Given the description of an element on the screen output the (x, y) to click on. 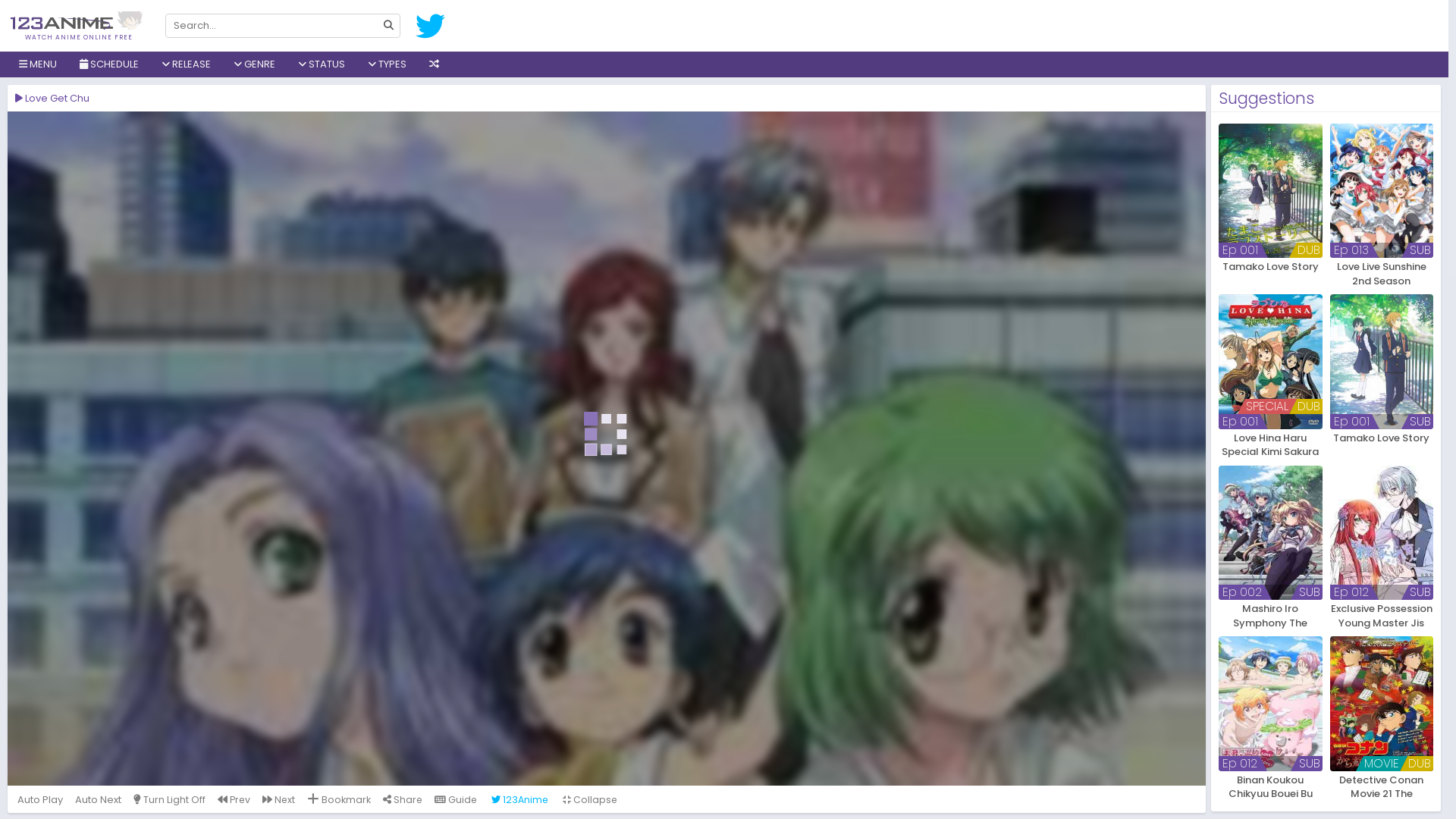
Tamako Love Story Element type: text (1270, 273)
SUB
Ep 001 Element type: text (1382, 361)
STATUS Element type: text (321, 64)
RELEASE Element type: text (186, 64)
DUB
SPECIAL
Ep 001 Element type: text (1270, 361)
Detective Conan Movie 21 The Crimson Love Letter Element type: text (1382, 786)
SUB
Ep 012 Element type: text (1382, 532)
Love Hina Haru Special Kimi Sakura Chiru Nakare Element type: text (1270, 444)
SUB
Ep 013 Element type: text (1382, 190)
SUB
Ep 012 Element type: text (1270, 703)
GENRE Element type: text (254, 64)
Binan Koukou Chikyuu Bouei Bu Love Love Element type: text (1270, 786)
Mashiro Iro Symphony The Color Of Lovers Picture Drama Element type: text (1270, 615)
SCHEDULE Element type: text (109, 64)
Love Live Sunshine 2nd Season Element type: text (1382, 273)
TYPES Element type: text (386, 64)
DUB
MOVIE Element type: text (1382, 703)
SUB
Ep 002 Element type: text (1270, 532)
Love Get Chu Element type: hover (606, 448)
123Anime Element type: text (519, 799)
DUB
Ep 001 Element type: text (1270, 190)
Tamako Love Story Element type: text (1382, 444)
Exclusive Possession Young Master Jis Beloved Wife S2 Element type: text (1382, 615)
WATCH ANIME ONLINE FREE Element type: text (78, 30)
Follow us on Twitter Element type: hover (430, 25)
MENU Element type: text (37, 64)
